Given the description of an element on the screen output the (x, y) to click on. 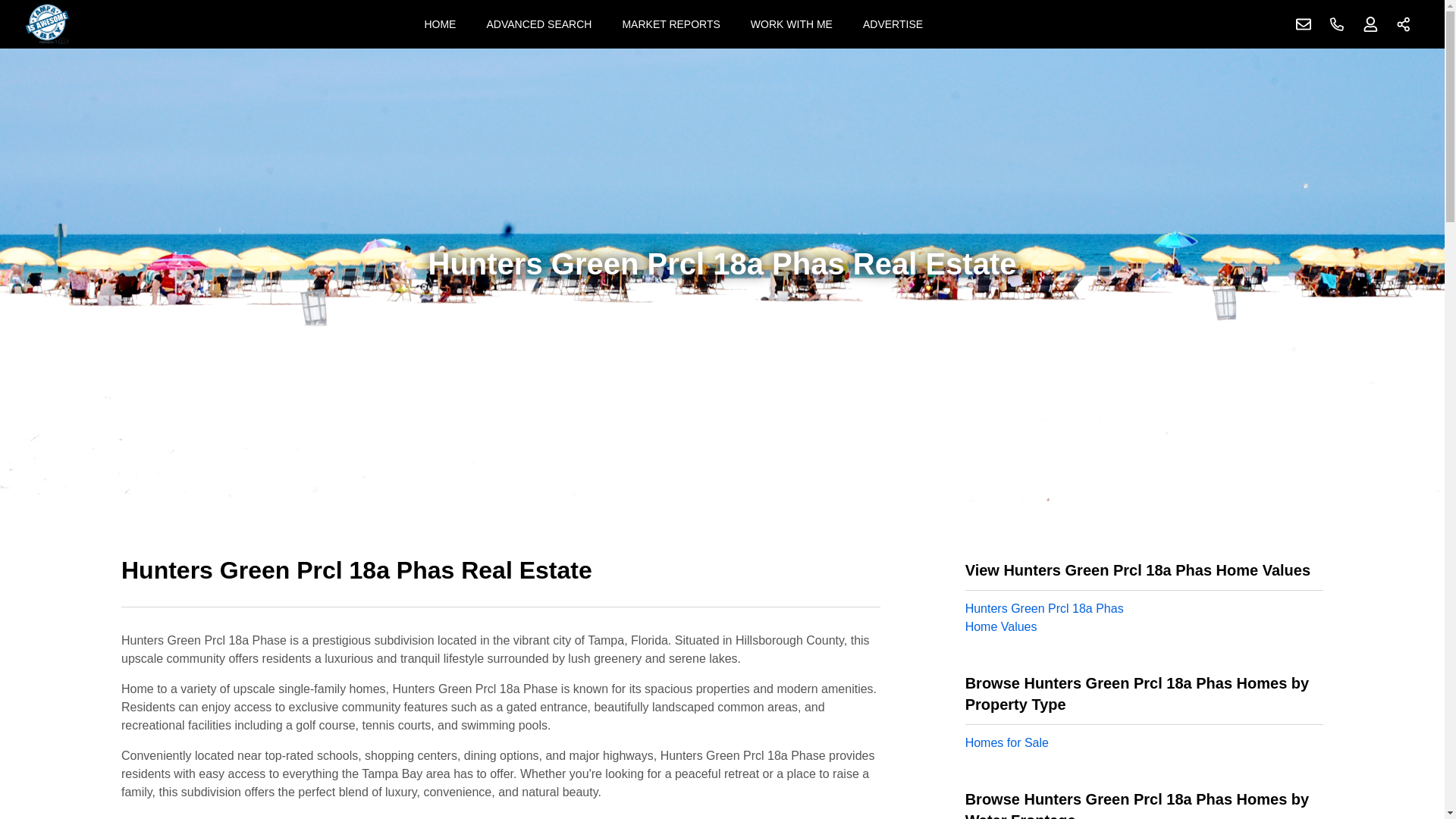
Contact us (1303, 23)
Tampabayisawesome.com (46, 24)
ADVERTISE (892, 24)
Sign up or Sign in (1370, 23)
WORK WITH ME (791, 24)
HOME (439, 24)
Share (1404, 23)
Phone number (1337, 23)
Hunters Green Prcl 18a Phas Real Estate (500, 579)
ADVANCED SEARCH (538, 24)
